Given the description of an element on the screen output the (x, y) to click on. 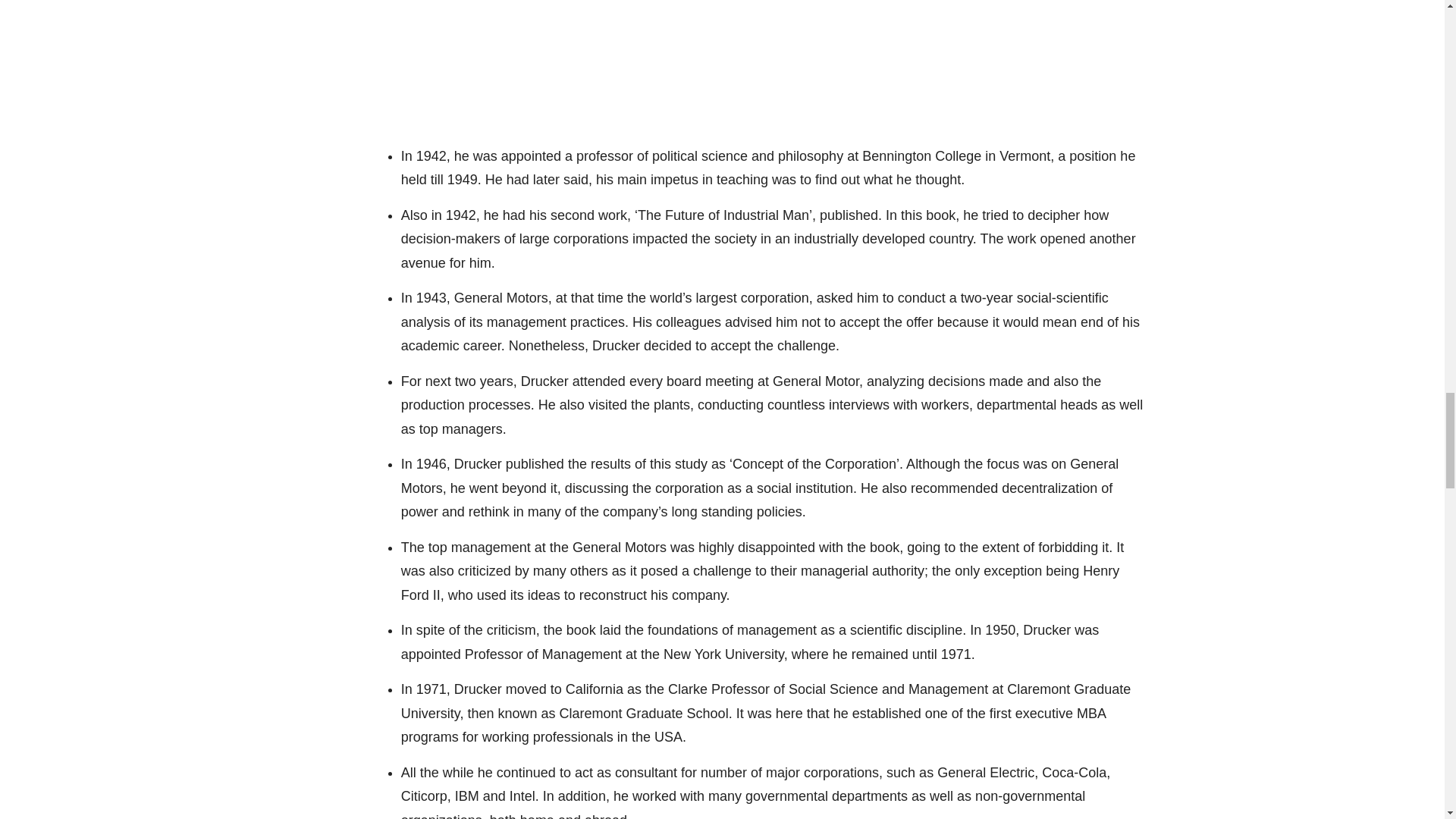
Advertisement (770, 57)
